Given the description of an element on the screen output the (x, y) to click on. 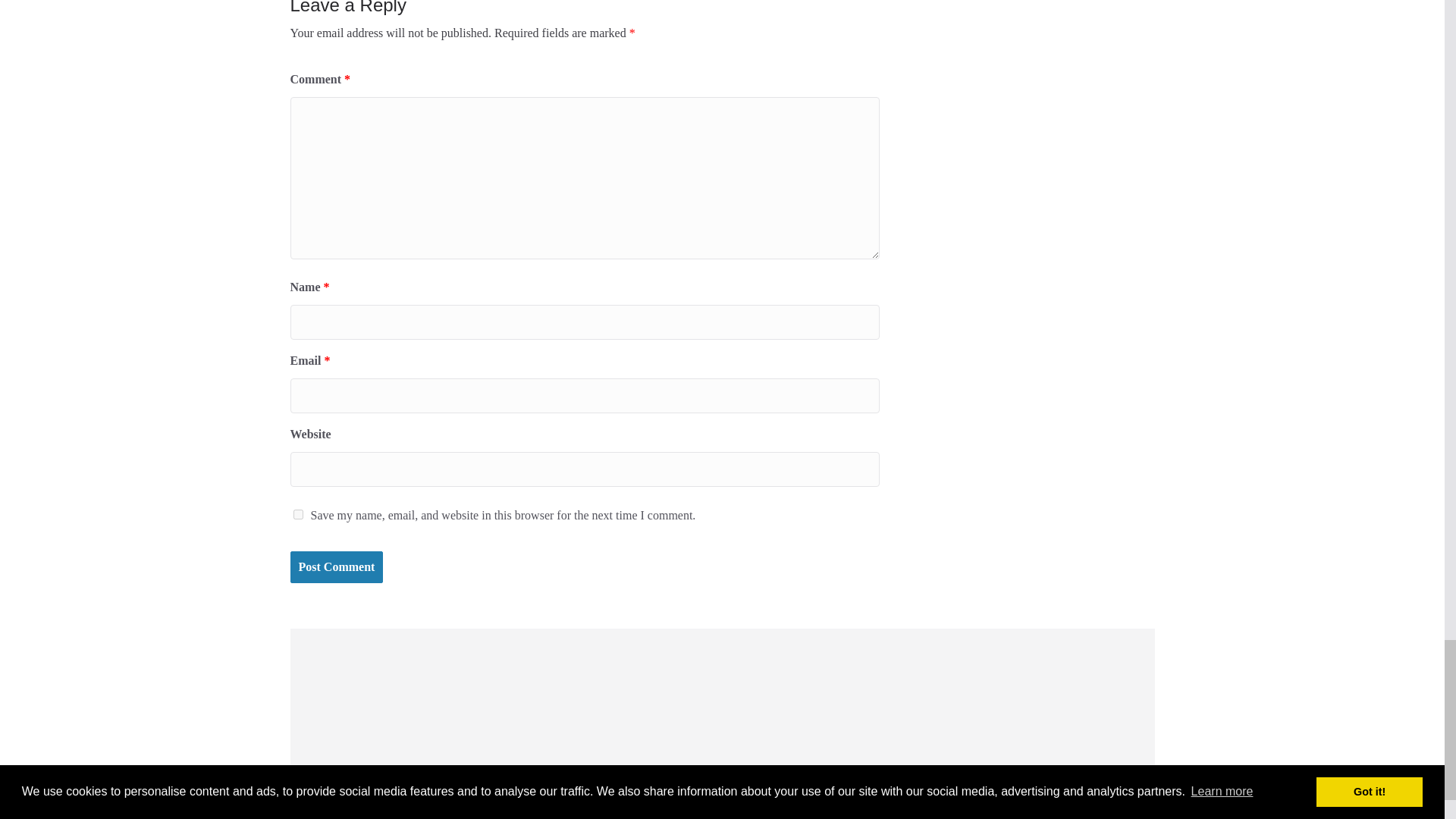
Post Comment (335, 567)
yes (297, 514)
